Given the description of an element on the screen output the (x, y) to click on. 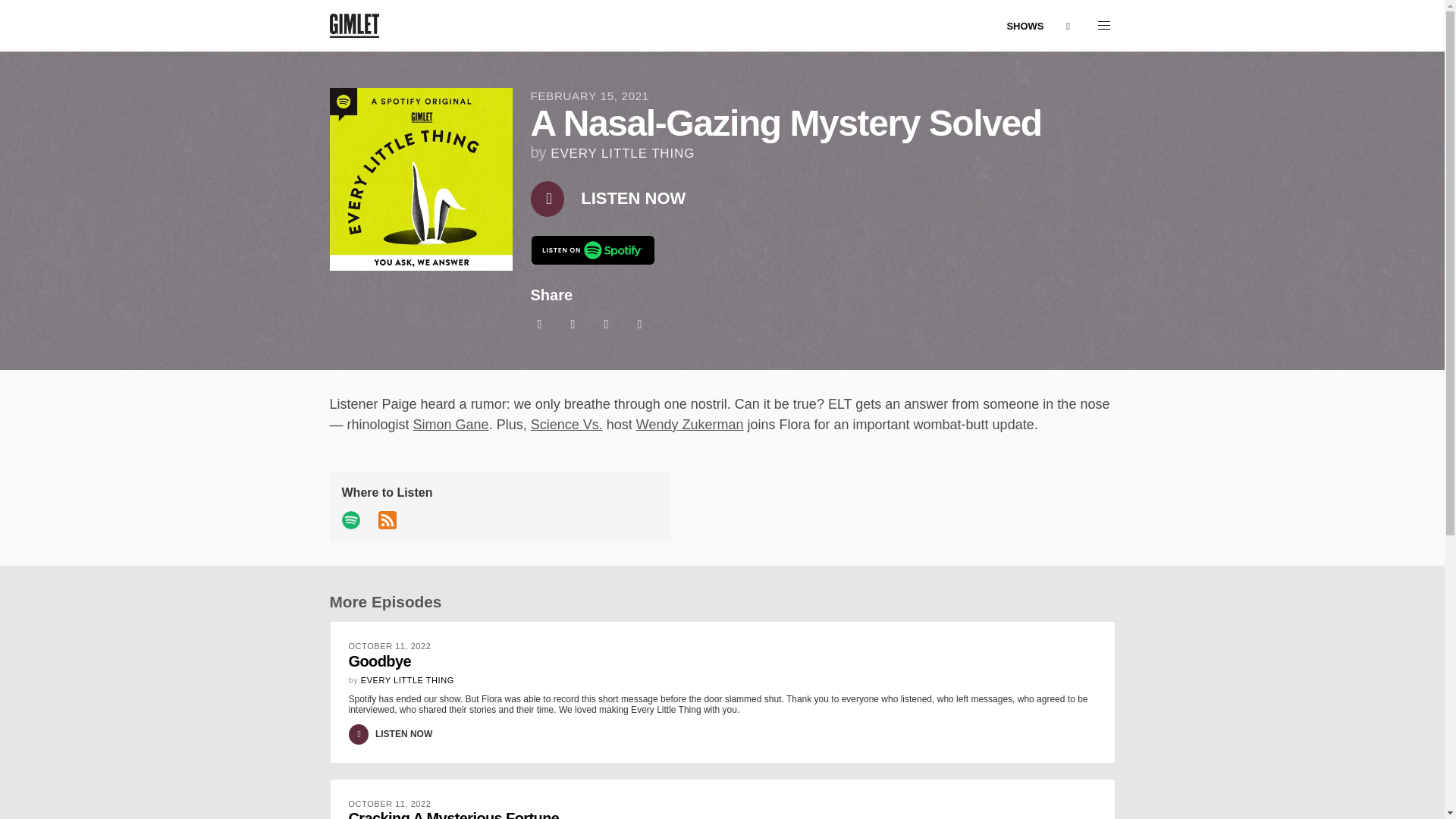
More Episodes (385, 601)
Simon Gane (451, 424)
Wendy Zukerman (690, 424)
EVERY LITTLE THING (622, 152)
LISTEN NOW (403, 733)
LISTEN NOW (401, 662)
Science Vs. (632, 198)
